Given the description of an element on the screen output the (x, y) to click on. 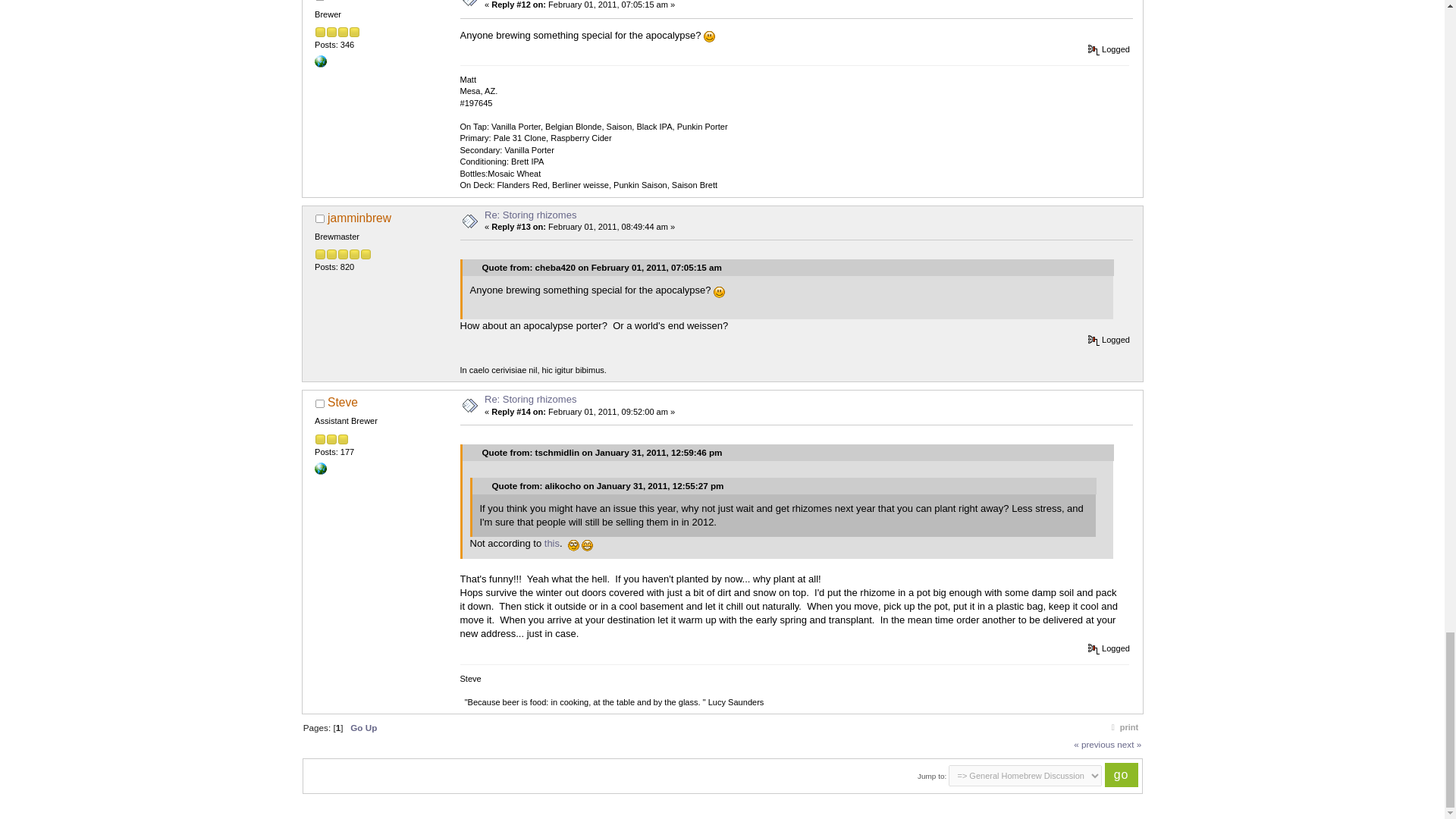
go (1121, 774)
